Given the description of an element on the screen output the (x, y) to click on. 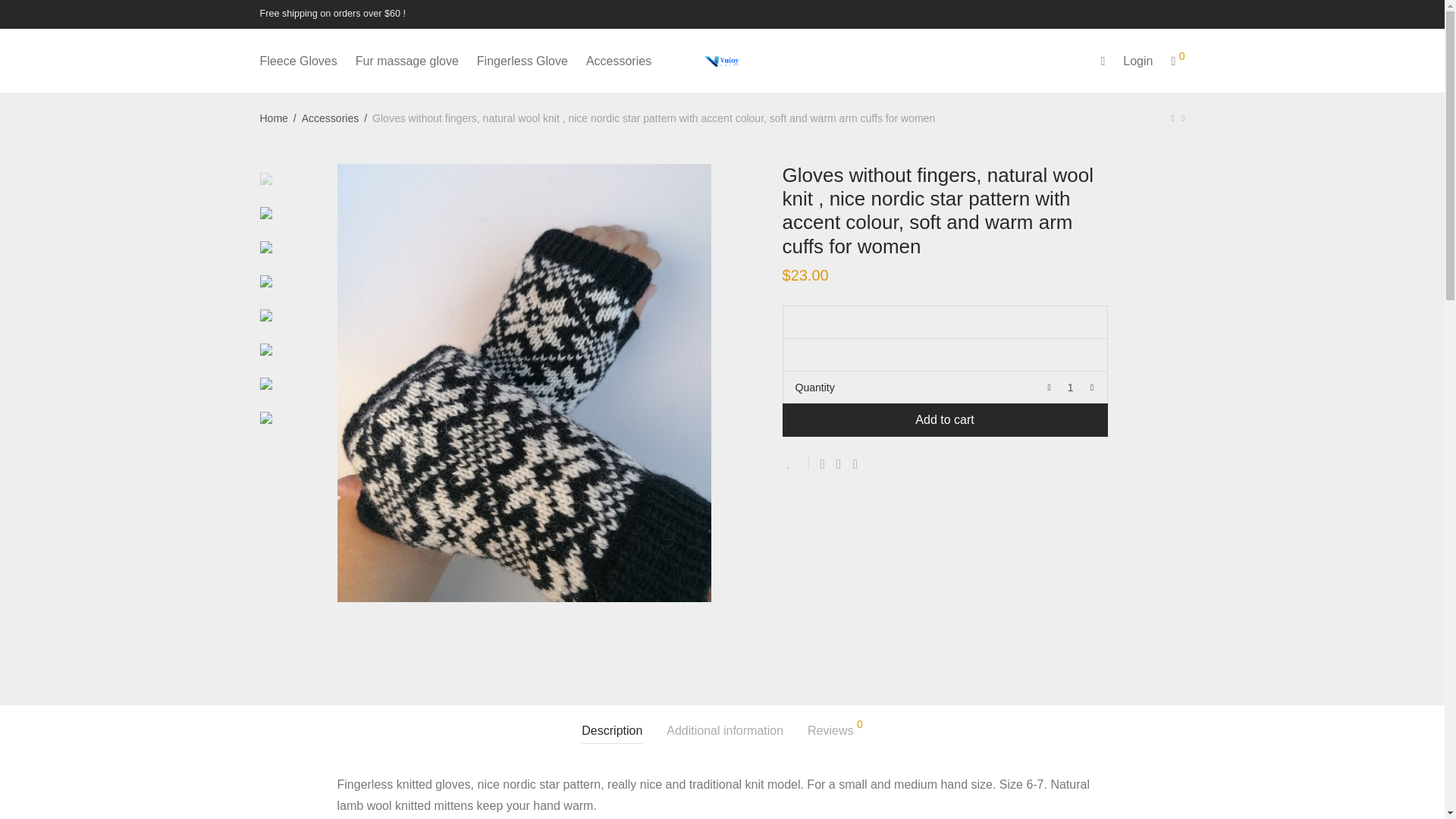
Description (611, 731)
Reviews 0 (835, 731)
Fur massage glove (406, 61)
Fleece Gloves (298, 61)
Fingerless Glove (521, 61)
Additional information (724, 731)
Login (1137, 61)
Add to cart (945, 419)
Add to Wishlist (796, 462)
Home (272, 117)
Accessories (329, 117)
Accessories (618, 61)
